Given the description of an element on the screen output the (x, y) to click on. 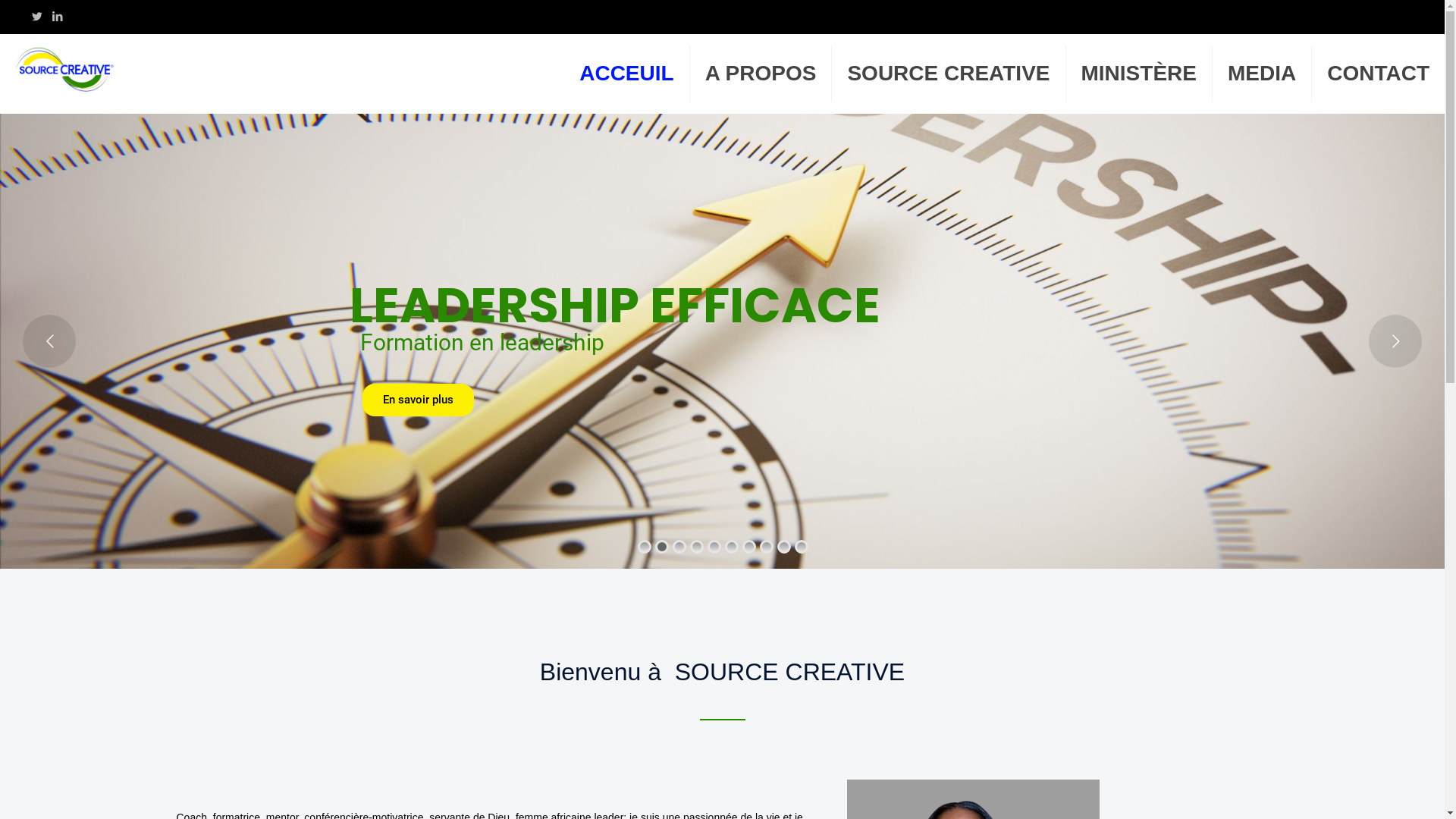
ACCEUIL Element type: text (626, 73)
CONTACT Element type: text (1377, 73)
SOURCE CREATIVE Element type: text (948, 73)
En savoir plus Element type: text (417, 399)
A PROPOS Element type: text (761, 73)
Twitter Element type: hover (36, 15)
Source Creative Element type: hover (64, 68)
MEDIA Element type: text (1261, 73)
LinkedIn Element type: hover (57, 15)
